Given the description of an element on the screen output the (x, y) to click on. 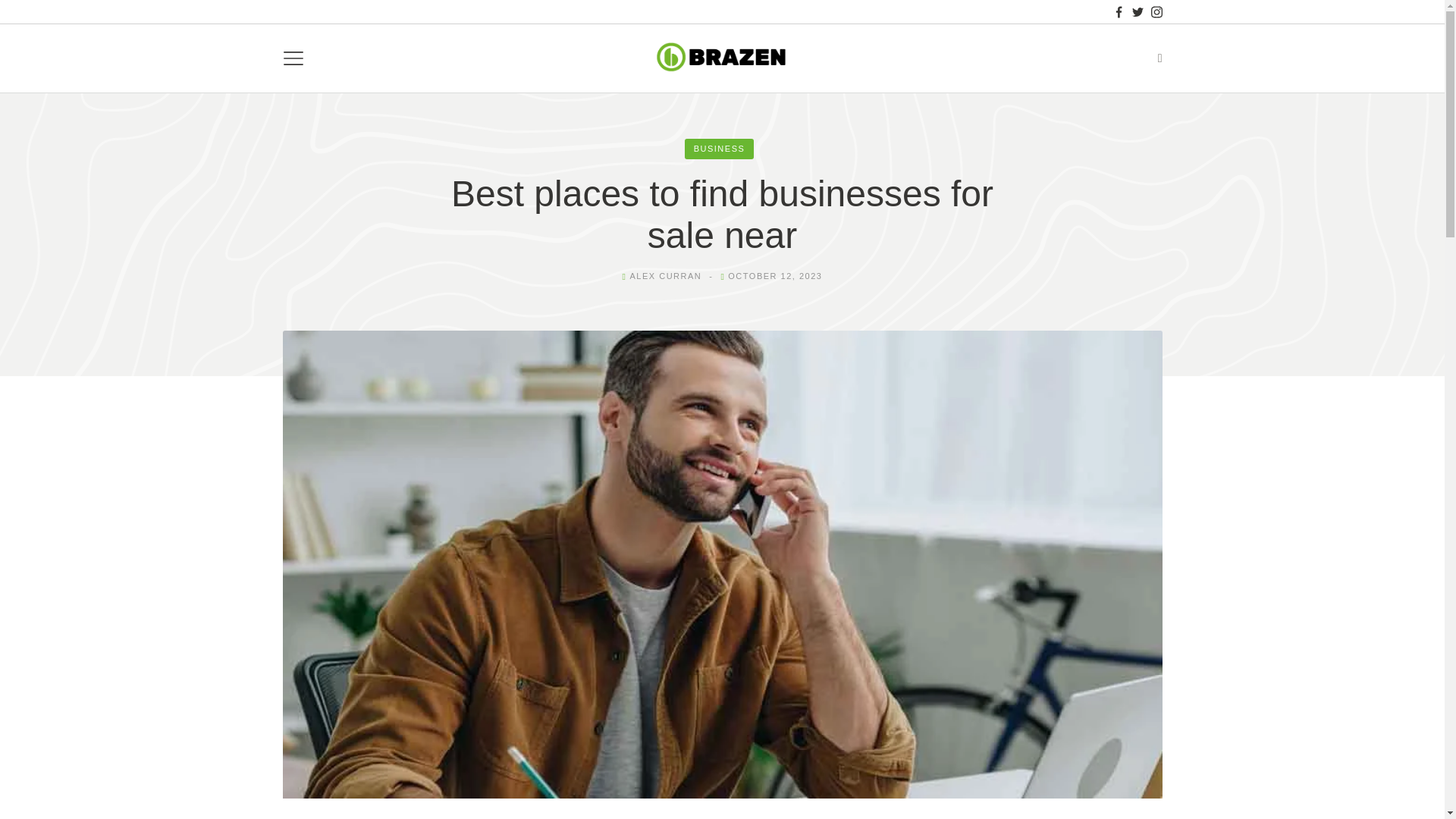
ALEX CURRAN (664, 275)
BUSINESS (719, 148)
OCTOBER 12, 2023 (775, 275)
